Given the description of an element on the screen output the (x, y) to click on. 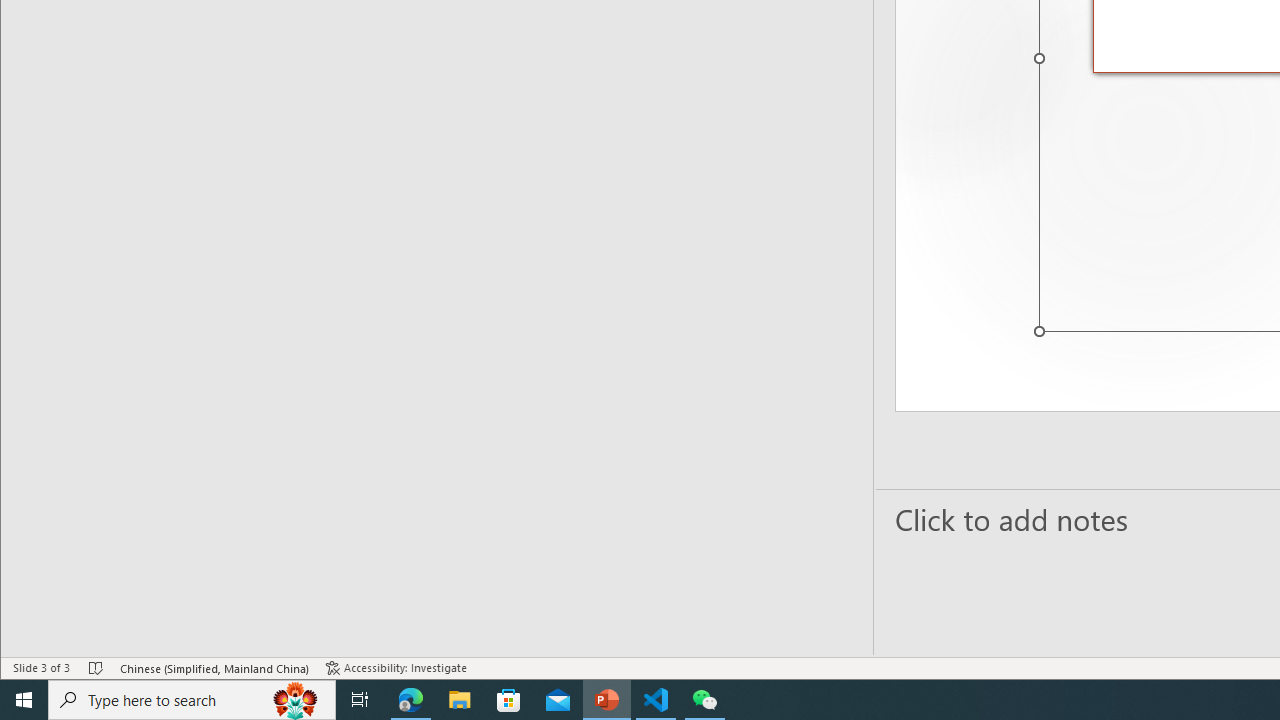
Microsoft Edge - 1 running window (411, 699)
Type here to search (191, 699)
Start (24, 699)
File Explorer (460, 699)
Visual Studio Code - 1 running window (656, 699)
Task View (359, 699)
Search highlights icon opens search home window (295, 699)
Microsoft Store (509, 699)
WeChat - 1 running window (704, 699)
Accessibility Checker Accessibility: Investigate (395, 668)
PowerPoint - 1 running window (607, 699)
